Given the description of an element on the screen output the (x, y) to click on. 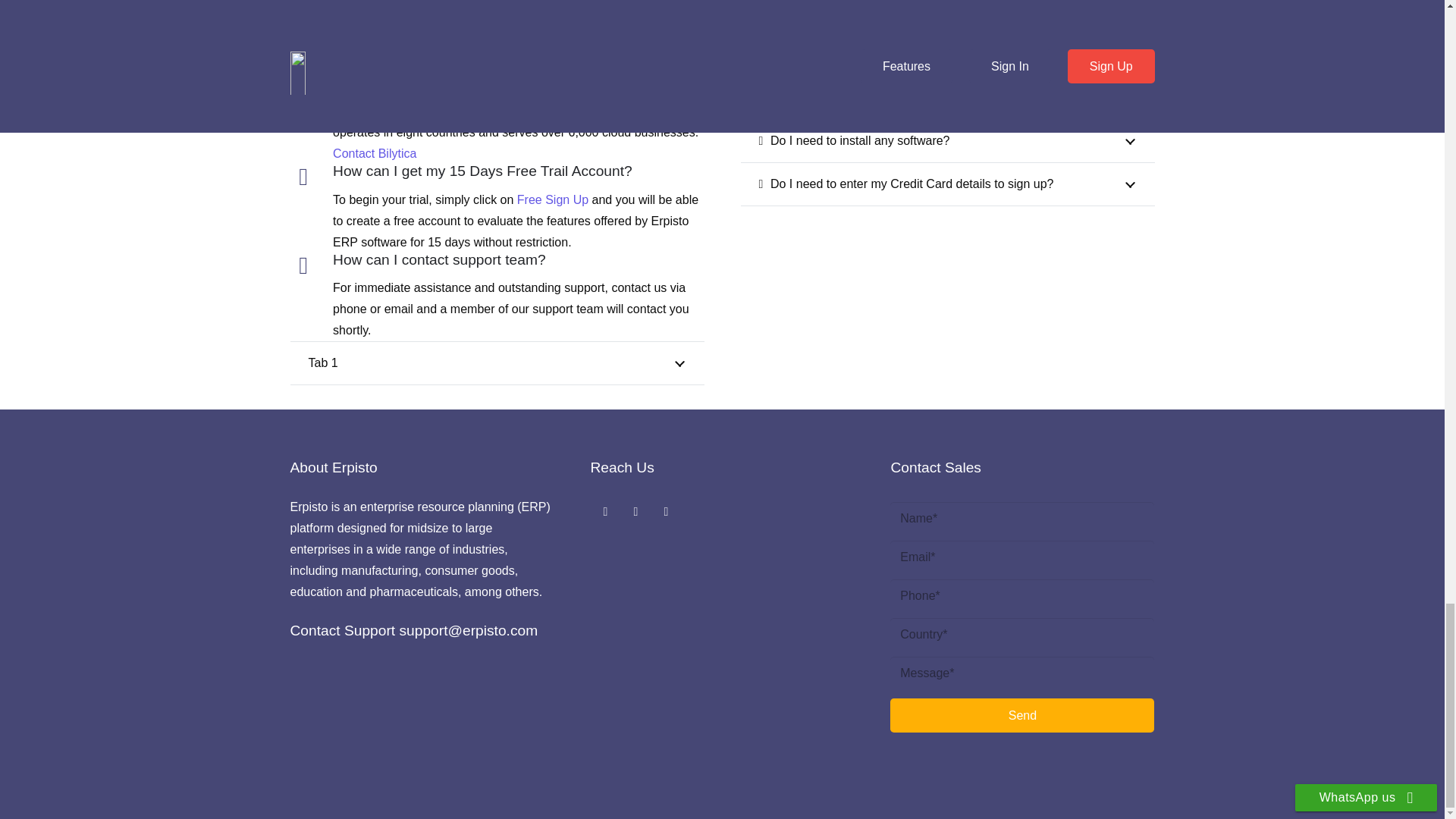
Facebook (604, 511)
Tab 1 (496, 362)
Send (1021, 715)
LinkedIn (665, 511)
Twitter (635, 511)
